Given the description of an element on the screen output the (x, y) to click on. 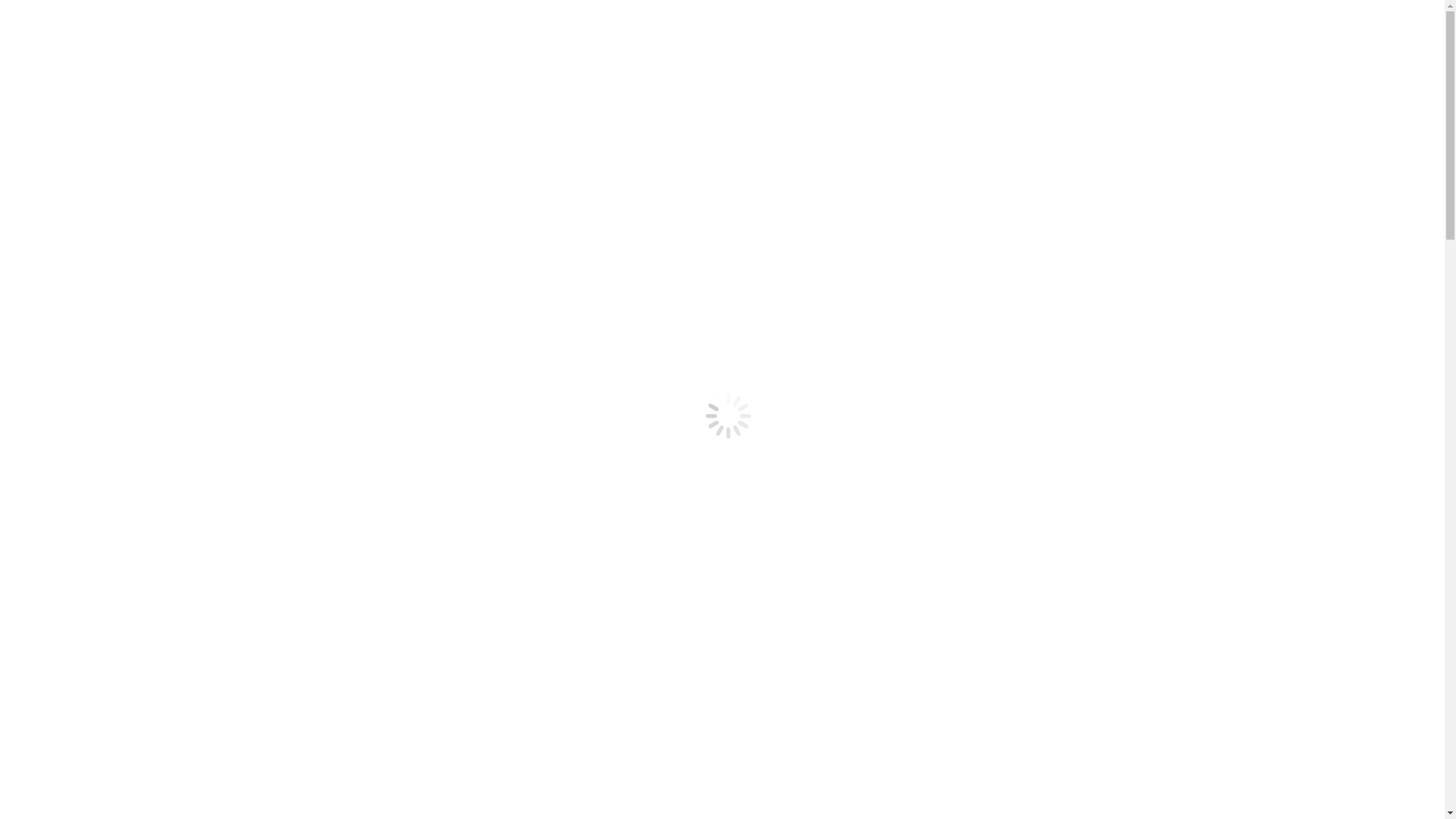
Facebook page opens in new window Element type: text (97, 80)
Contact Us Element type: text (63, 272)
Home Element type: text (50, 231)
Untitled-21231.jpg Element type: hover (536, 457)
Matt Makens Weather Element type: text (89, 178)
Home Element type: text (50, 151)
Search form Element type: hover (73, 109)
Twitter page opens in new window Element type: text (272, 80)
Contact Us Element type: text (63, 192)
Go! Element type: text (20, 125)
285 Bound Forum Element type: text (80, 206)
Highway 285 Cameras in Colorado Weather Element type: text (143, 165)
Highway 285 Cameras in Colorado Weather Element type: text (143, 245)
Matt Makens Weather Element type: text (89, 259)
285 Bound Forum Element type: text (80, 286)
forecast for conifer Element type: text (490, 762)
Skip to content Element type: text (42, 12)
